Given the description of an element on the screen output the (x, y) to click on. 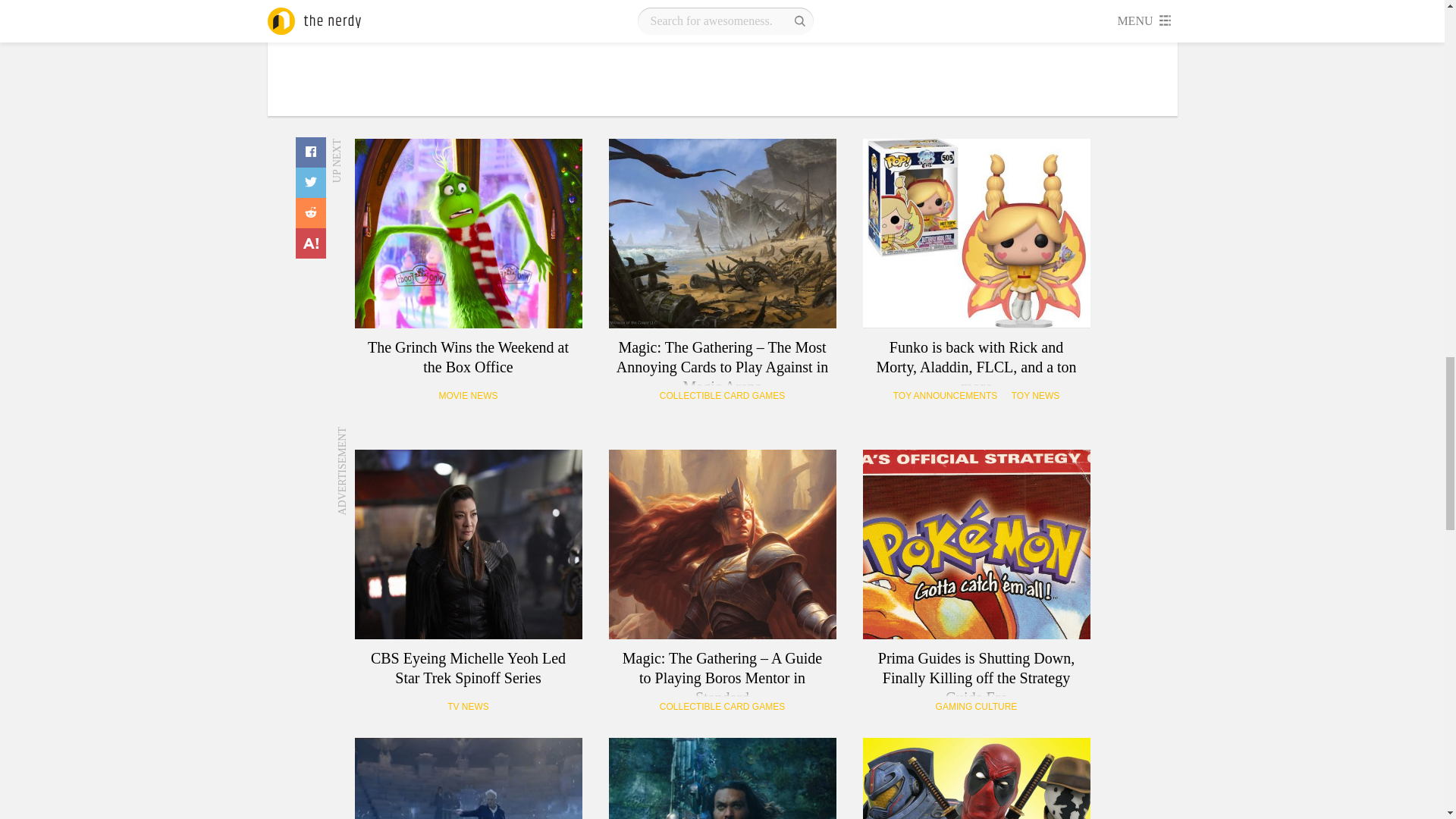
Legends in 3D Launches New Half-Scale Bust Line (976, 778)
CBS Eyeing Michelle Yeoh Led Star Trek Spinoff Series (468, 544)
The Grinch Wins the Weekend at the Box Office (468, 233)
